Given the description of an element on the screen output the (x, y) to click on. 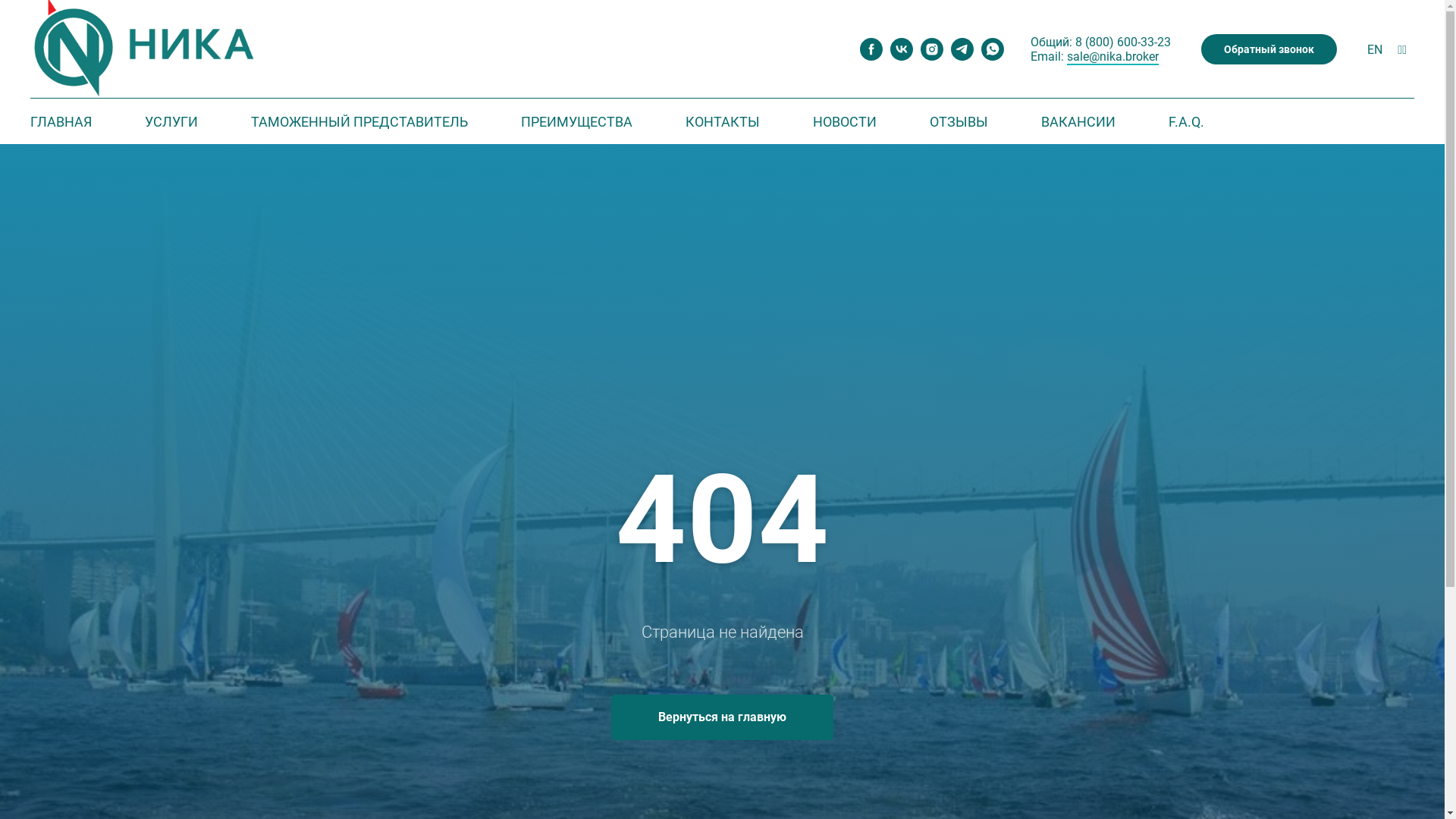
F.A.Q. Element type: text (1186, 121)
sale@nika.broker Element type: text (1112, 57)
EN Element type: text (1374, 49)
